Given the description of an element on the screen output the (x, y) to click on. 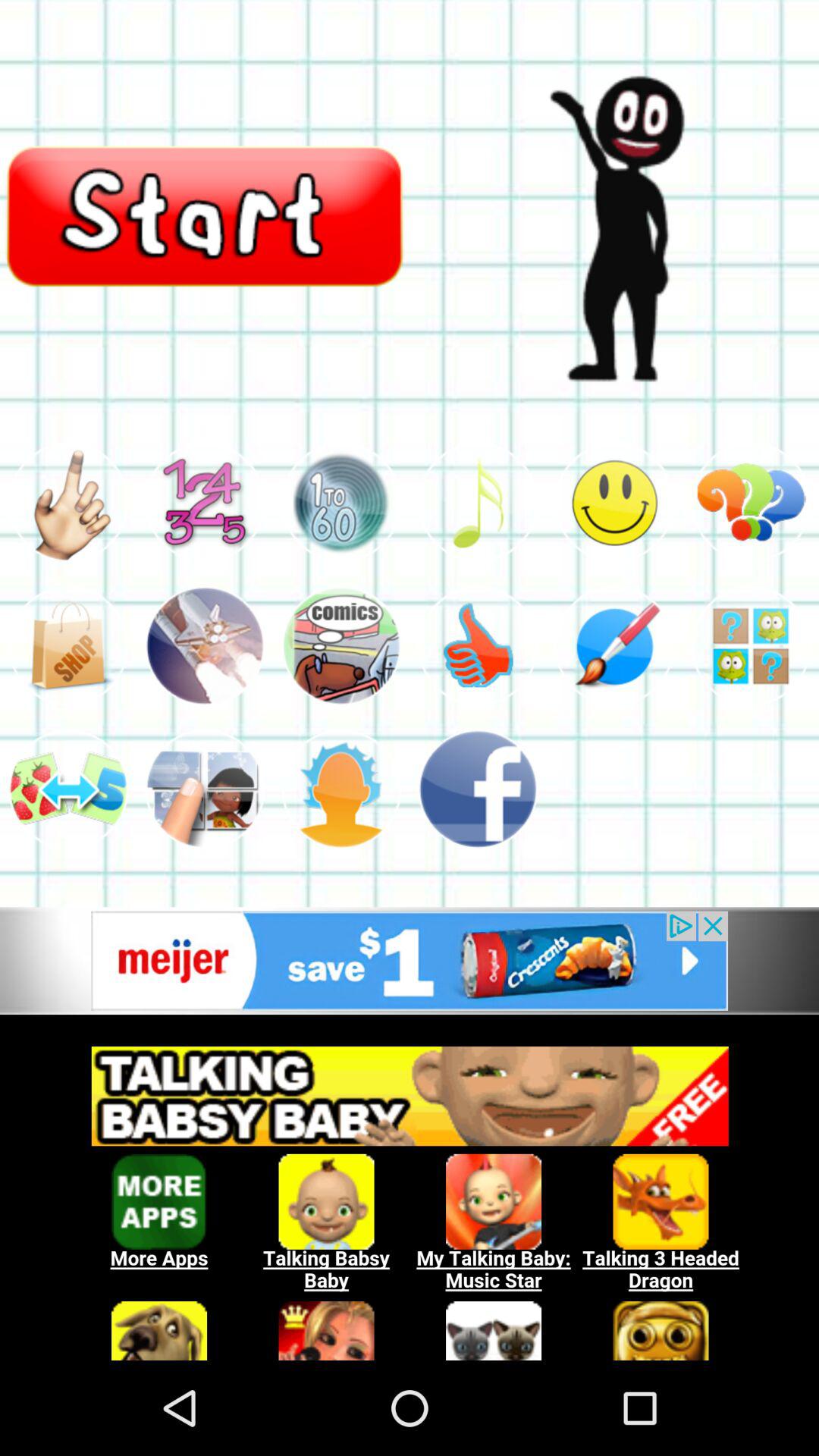
memorization game (750, 645)
